Given the description of an element on the screen output the (x, y) to click on. 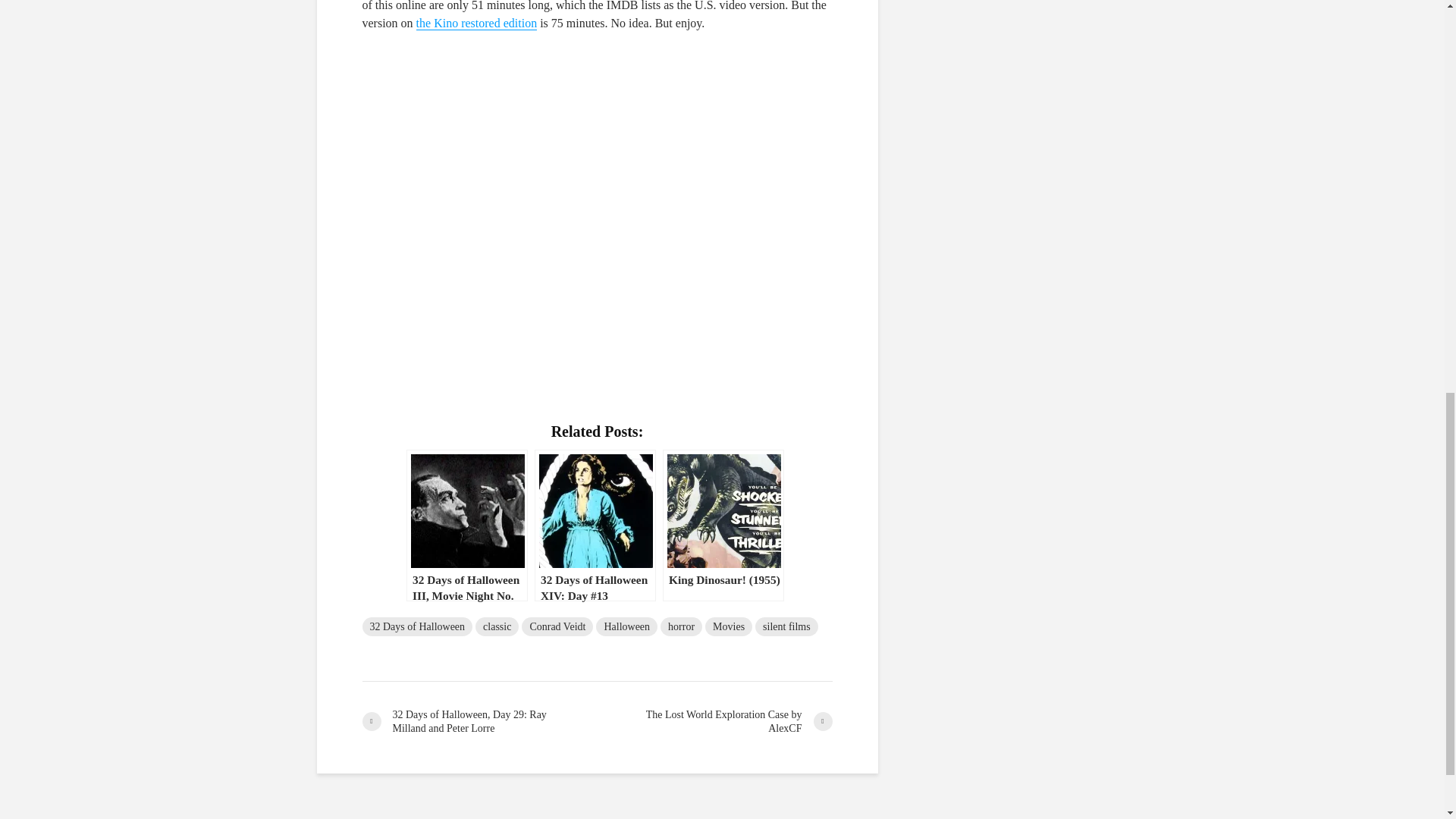
The Lost World Exploration Case by AlexCF (714, 721)
the Kino restored edition (476, 23)
silent films (786, 626)
Movies (728, 626)
horror (681, 626)
classic (497, 626)
32 Days of Halloween (417, 626)
Halloween (626, 626)
Conrad Veidt (556, 626)
